Given the description of an element on the screen output the (x, y) to click on. 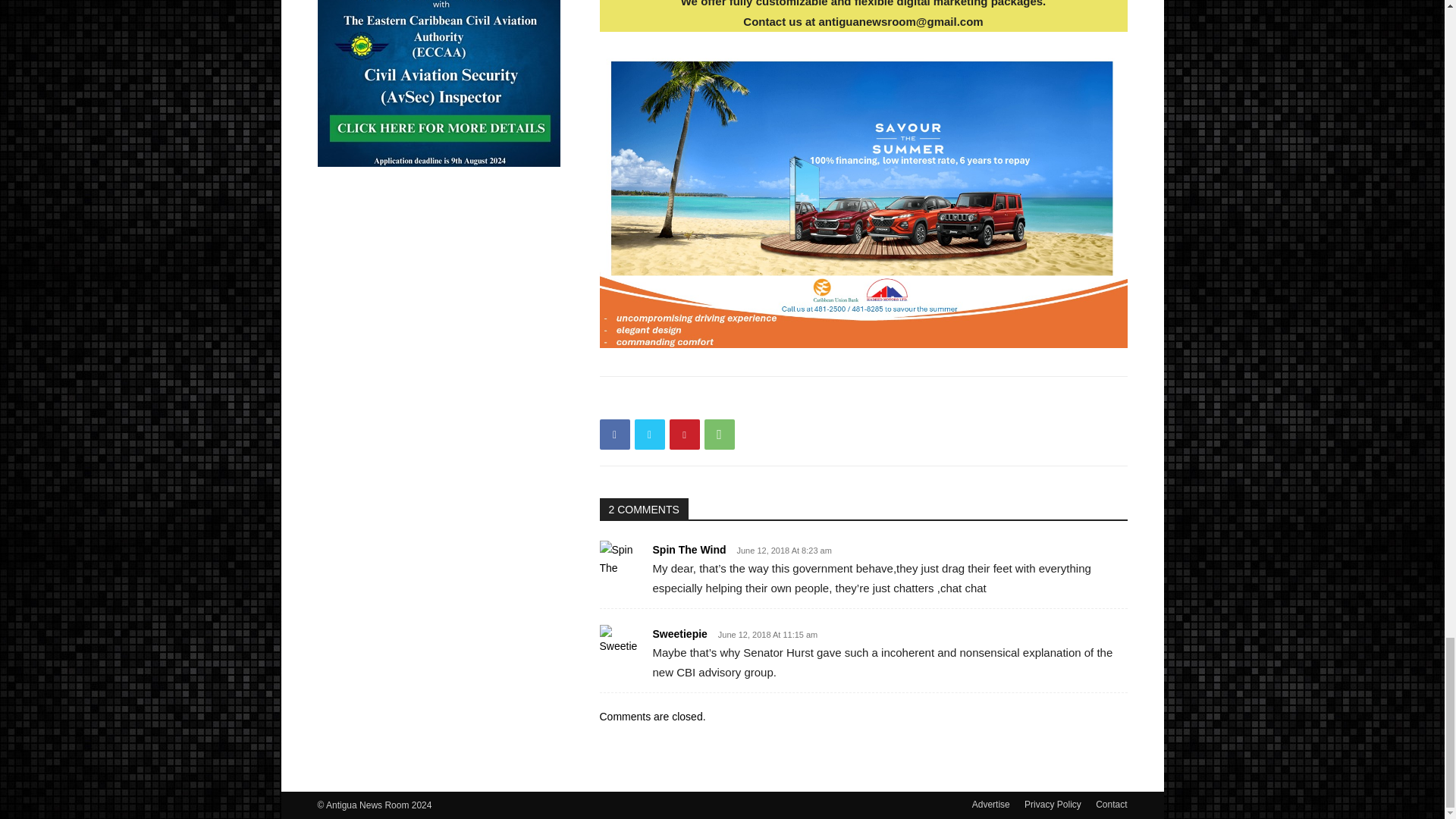
WhatsApp (718, 434)
bottomFacebookLike (712, 400)
Twitter (648, 434)
Facebook (613, 434)
Pinterest (683, 434)
